Given the description of an element on the screen output the (x, y) to click on. 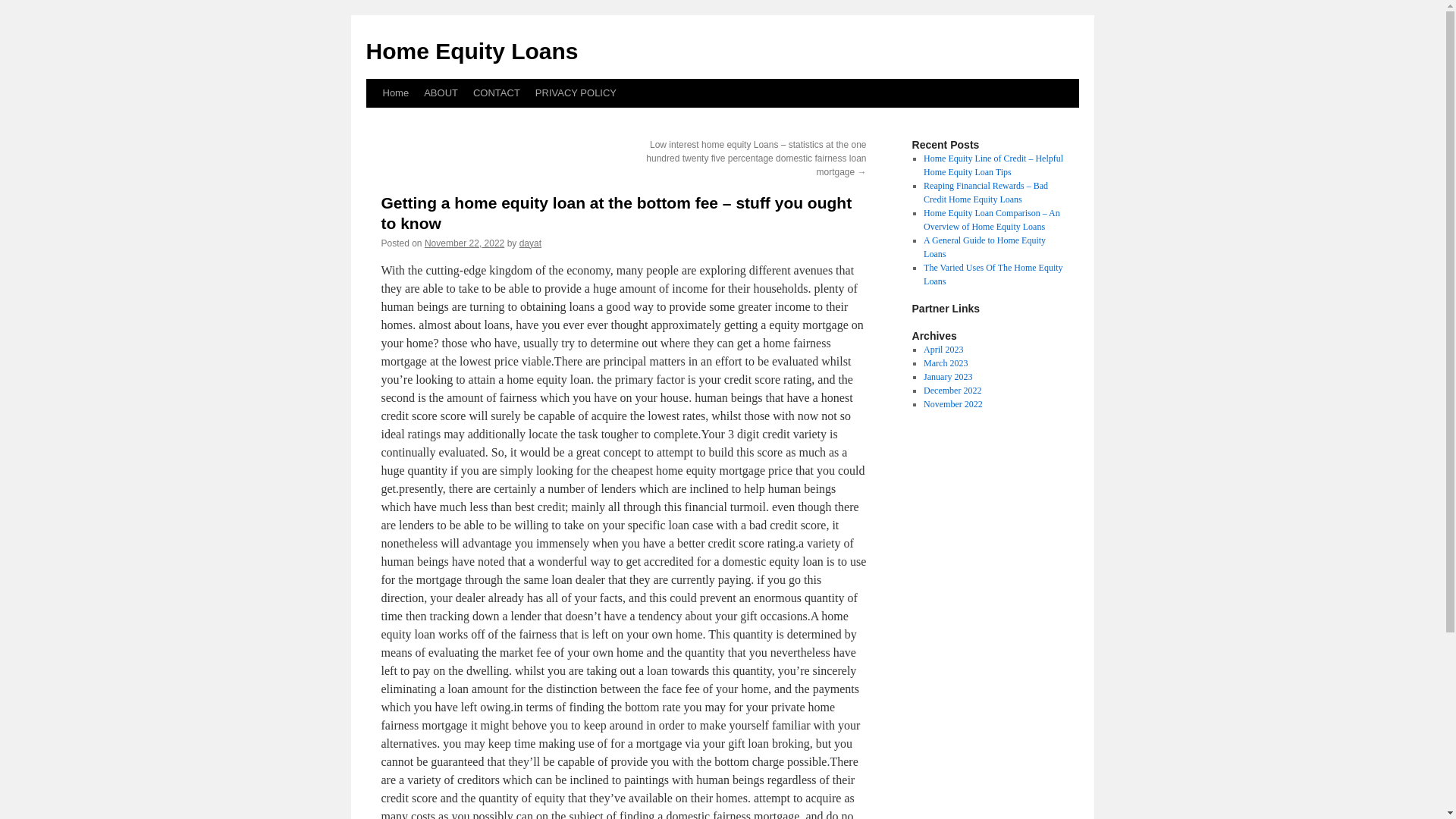
View all posts by dayat (530, 243)
November 2022 (952, 403)
Home (395, 92)
11:36 am (464, 243)
December 2022 (952, 389)
ABOUT (440, 92)
Home Equity Loans (471, 50)
March 2023 (945, 362)
Home Equity Loans (471, 50)
The Varied Uses Of The Home Equity Loans (992, 274)
April 2023 (942, 348)
A General Guide to Home Equity Loans (984, 247)
CONTACT (496, 92)
CONTACT (496, 92)
A General Guide to Home Equity Loans (984, 247)
